Given the description of an element on the screen output the (x, y) to click on. 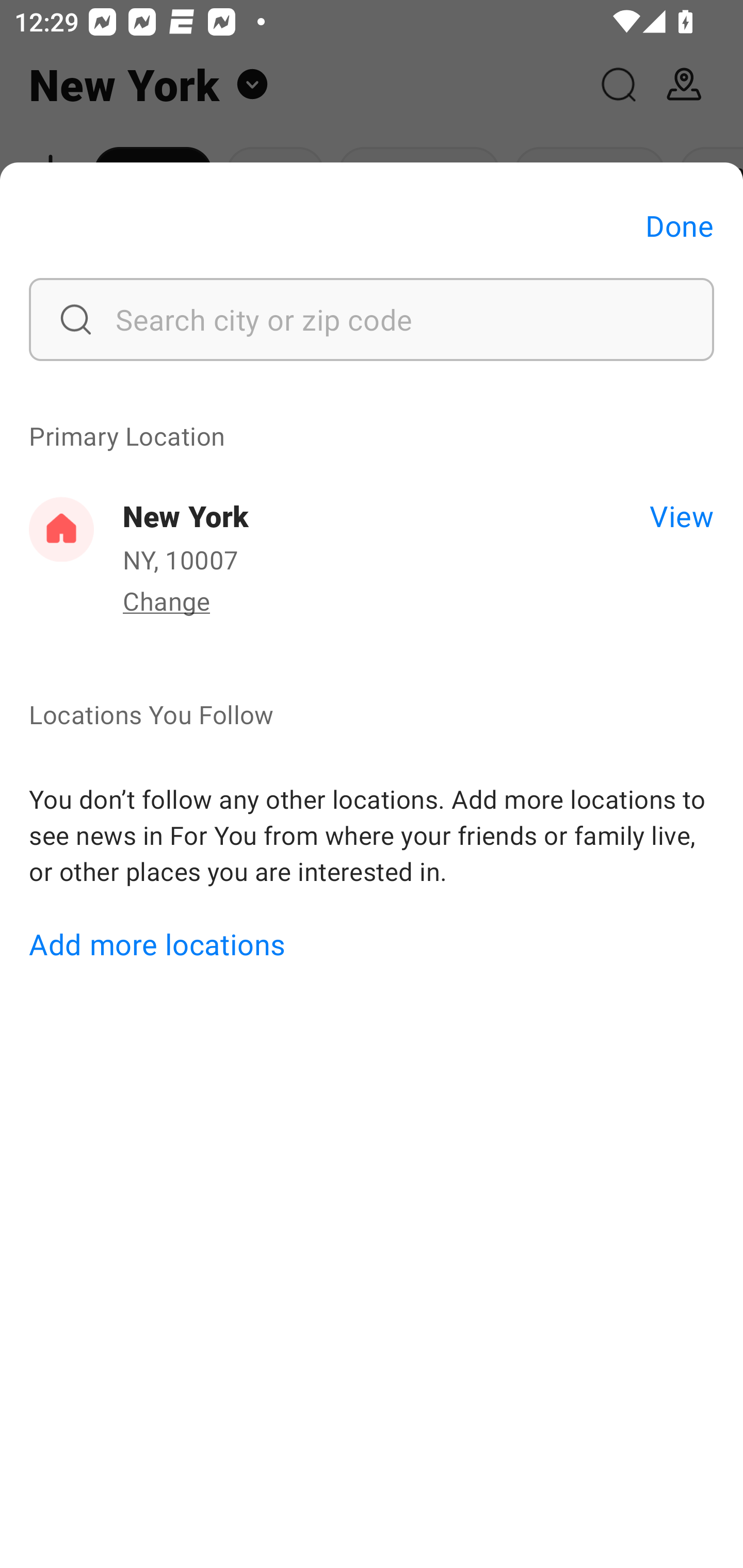
Done (679, 225)
Search city or zip code (371, 318)
View (681, 514)
Change (166, 600)
